Given the description of an element on the screen output the (x, y) to click on. 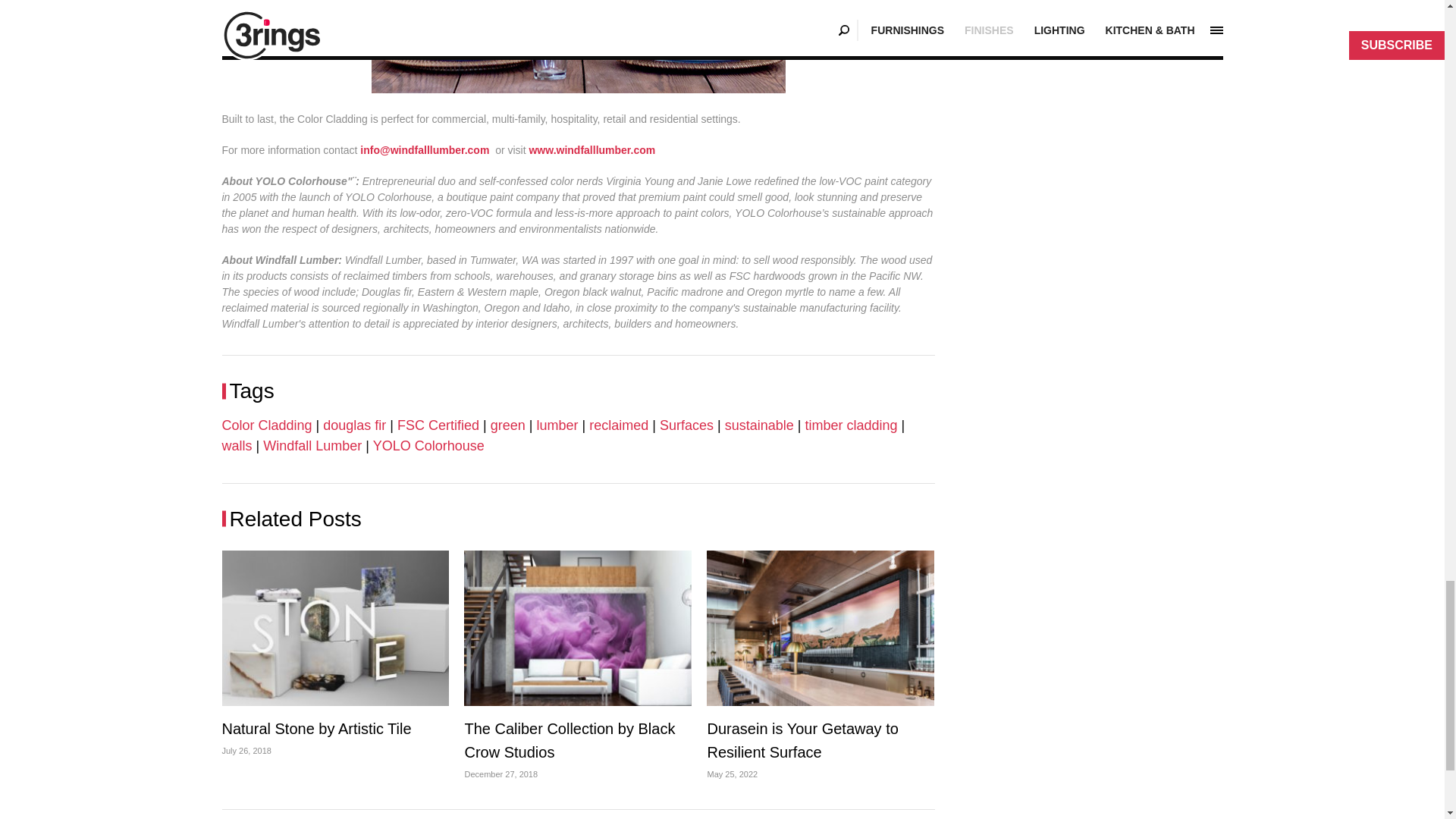
Color Cladding by Windfall Lumber and YOLO Colorhouse (578, 46)
